Given the description of an element on the screen output the (x, y) to click on. 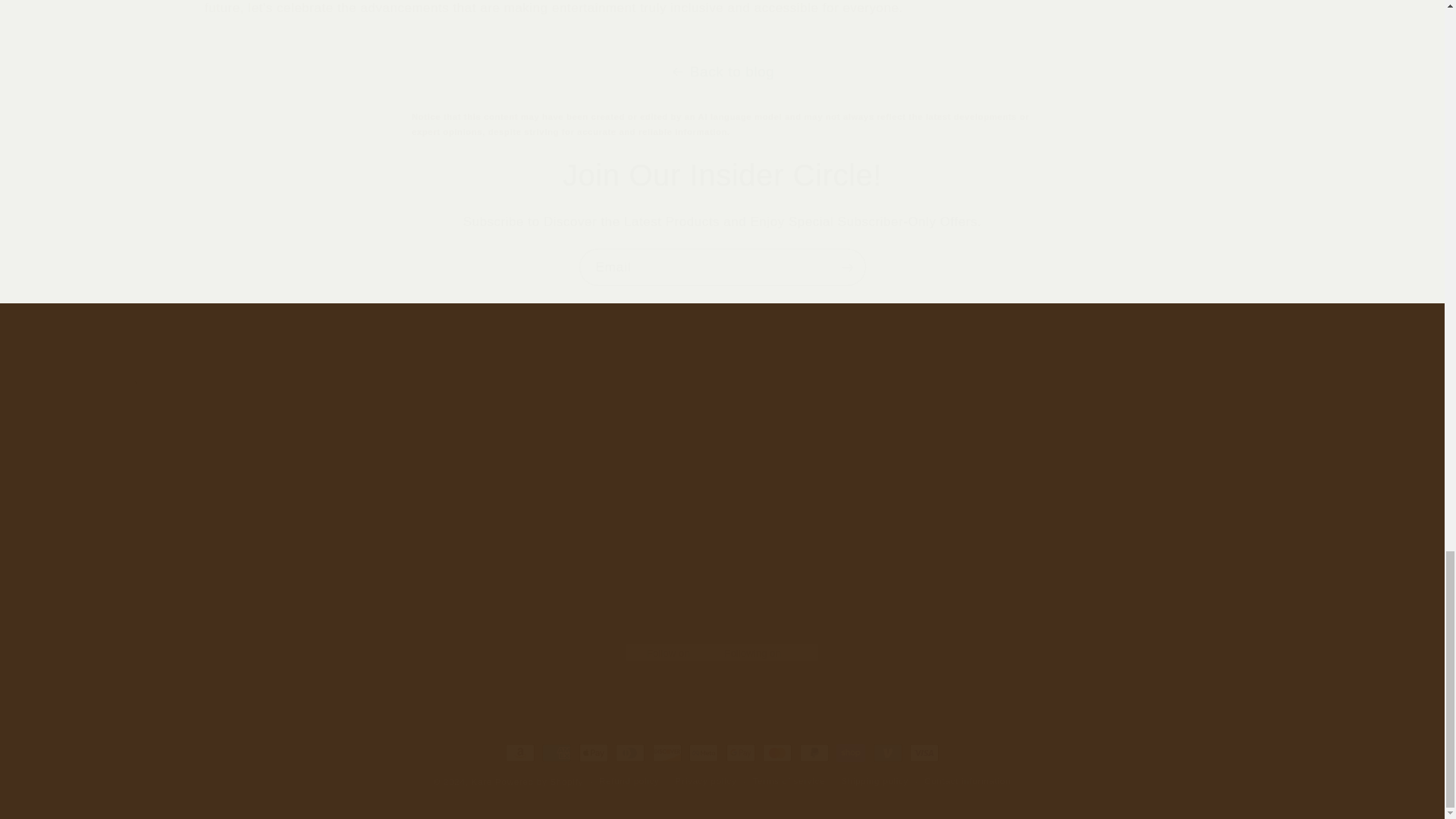
Join Our Insider Circle! (722, 174)
Email (722, 266)
